Given the description of an element on the screen output the (x, y) to click on. 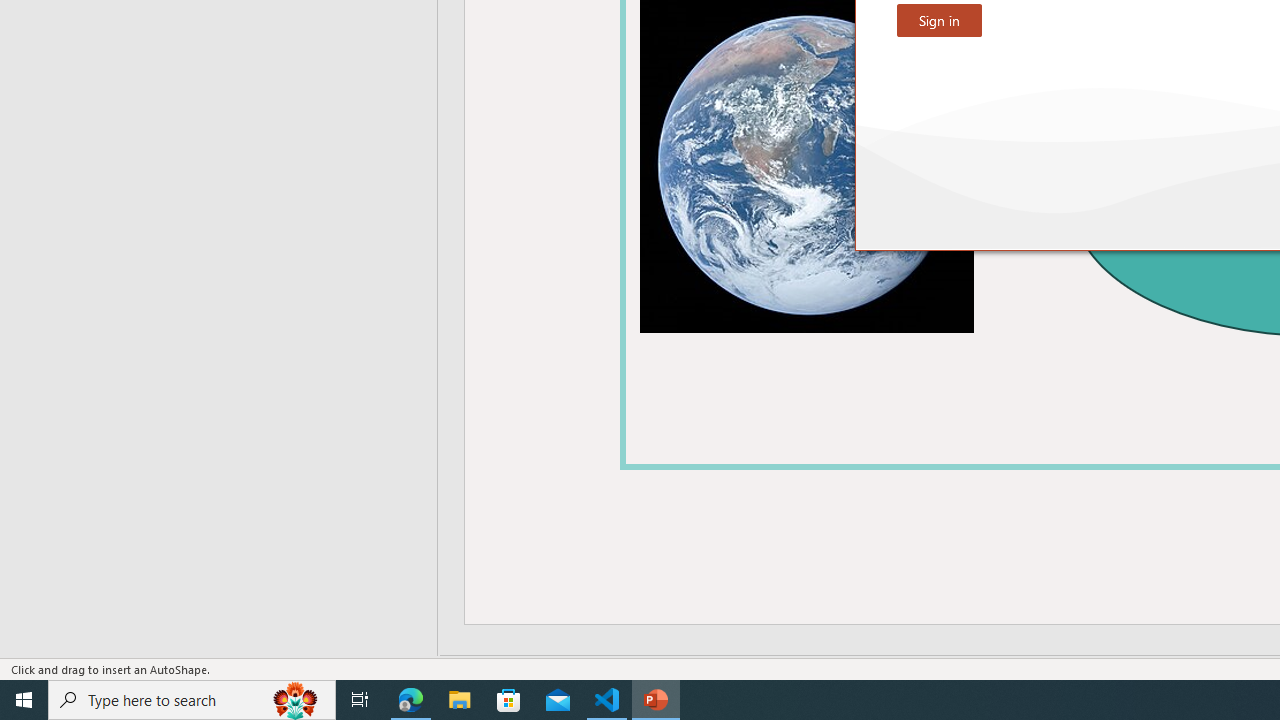
Microsoft Edge - 1 running window (411, 699)
Sign in (939, 20)
